Given the description of an element on the screen output the (x, y) to click on. 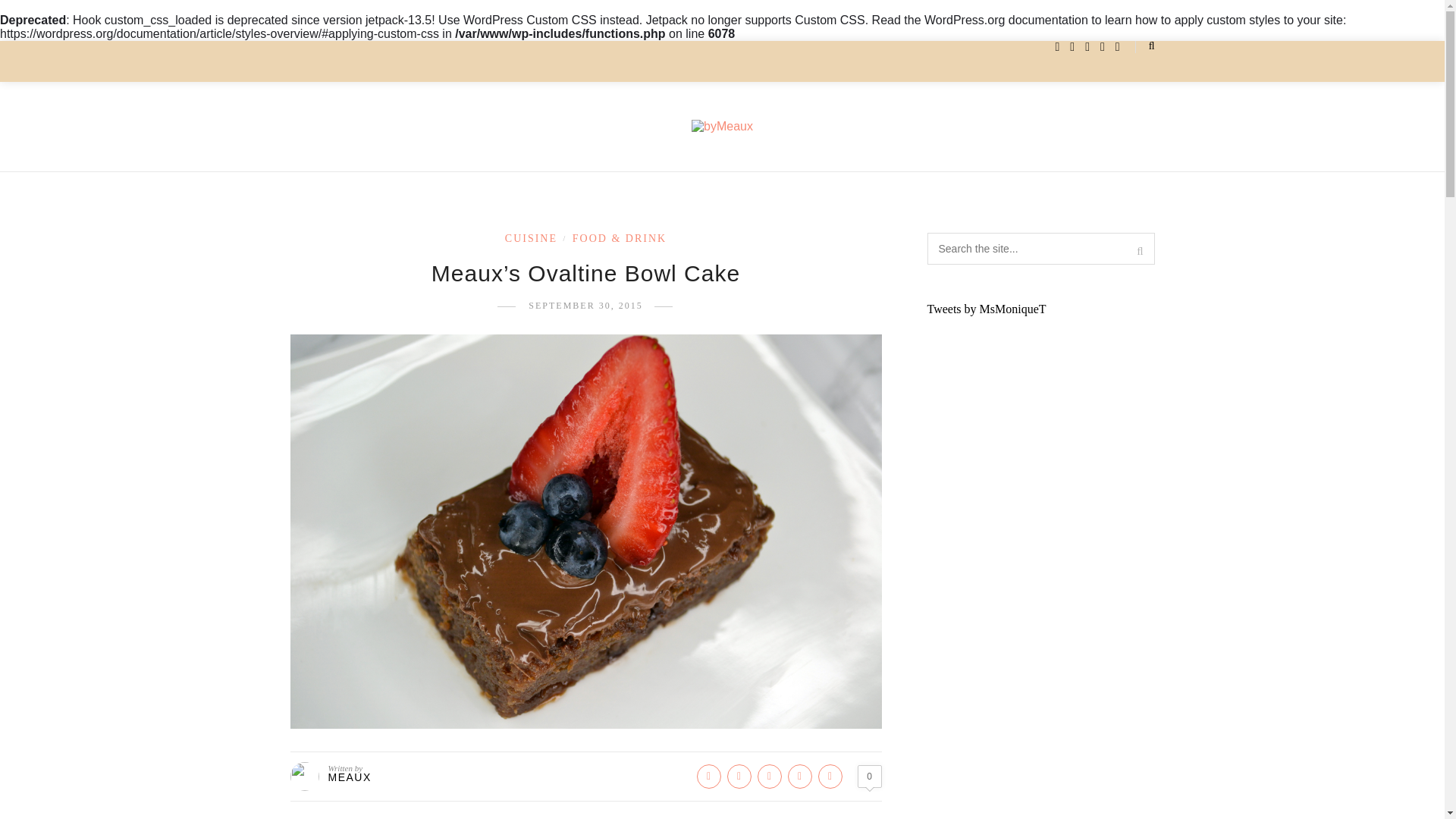
0 (868, 775)
CUISINE (531, 238)
MEAUX (349, 776)
SEPTEMBER 30, 2015 (585, 305)
Posts by Meaux (349, 776)
